Given the description of an element on the screen output the (x, y) to click on. 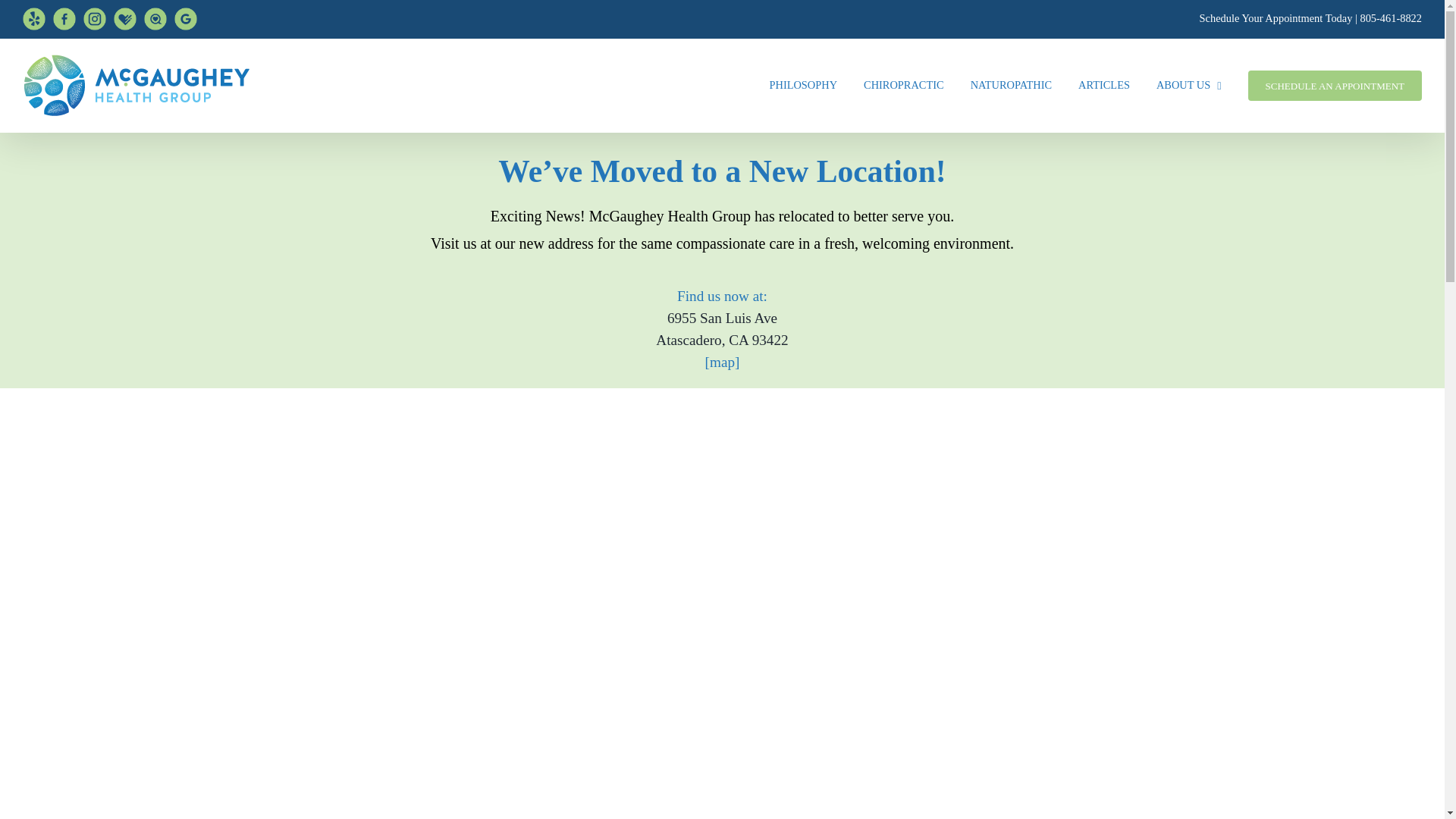
Facebook (63, 18)
Google (185, 18)
Sharecare (155, 18)
Healthgrades (124, 18)
Google (185, 18)
SCHEDULE AN APPOINTMENT (1334, 84)
Instagram (94, 18)
Healthgrades (124, 18)
Yelp (34, 18)
Facebook (63, 18)
